Given the description of an element on the screen output the (x, y) to click on. 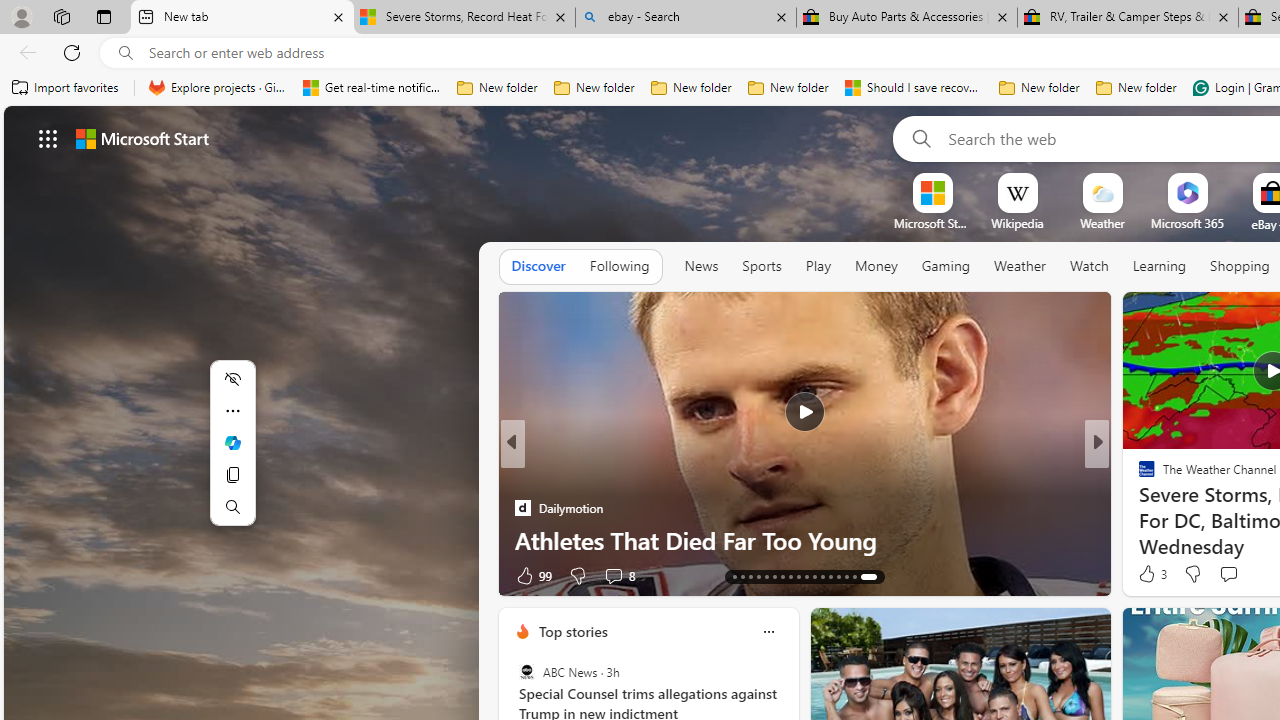
AutomationID: tab-13 (740, 576)
Sports (761, 265)
3 Like (1151, 574)
4 Like (528, 574)
Wikipedia (1017, 223)
AutomationID: tab-27 (857, 576)
AutomationID: tab-20 (801, 576)
Shopping (1240, 265)
Body Network (1138, 475)
View comments 8 Comment (1229, 575)
AutomationID: tab-19 (793, 576)
Money (875, 265)
